Given the description of an element on the screen output the (x, y) to click on. 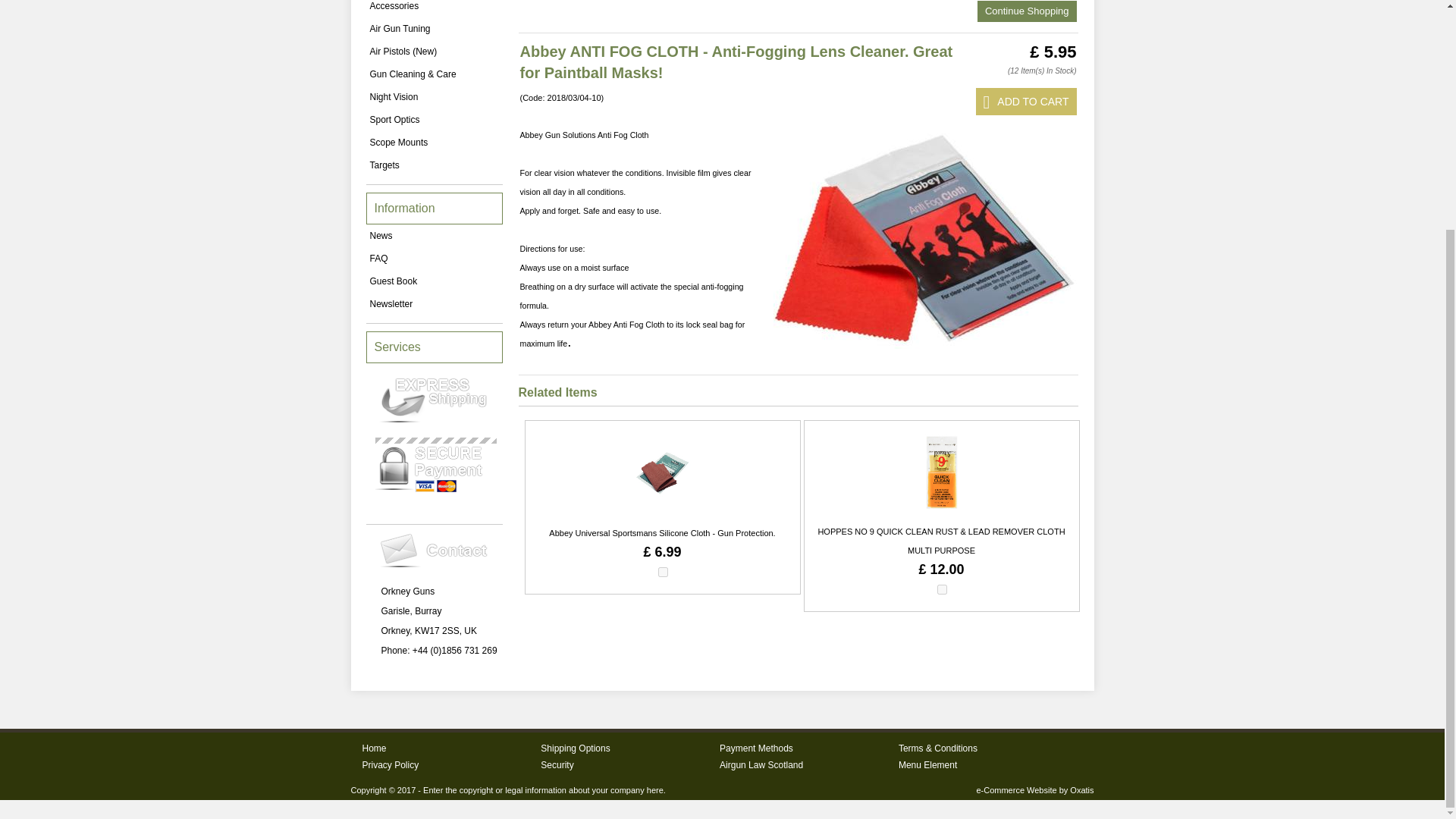
Sport Optics (433, 119)
Newsletter (433, 303)
ADD TO CART (1026, 101)
Continue Shopping (1026, 11)
Abbey Universal Sportsmans Silicone Cloth - Gun Protection. (661, 532)
Night Vision (433, 96)
FAQ (433, 258)
Targets (433, 164)
Guest Book (433, 281)
Air Gun Tuning (433, 28)
